Given the description of an element on the screen output the (x, y) to click on. 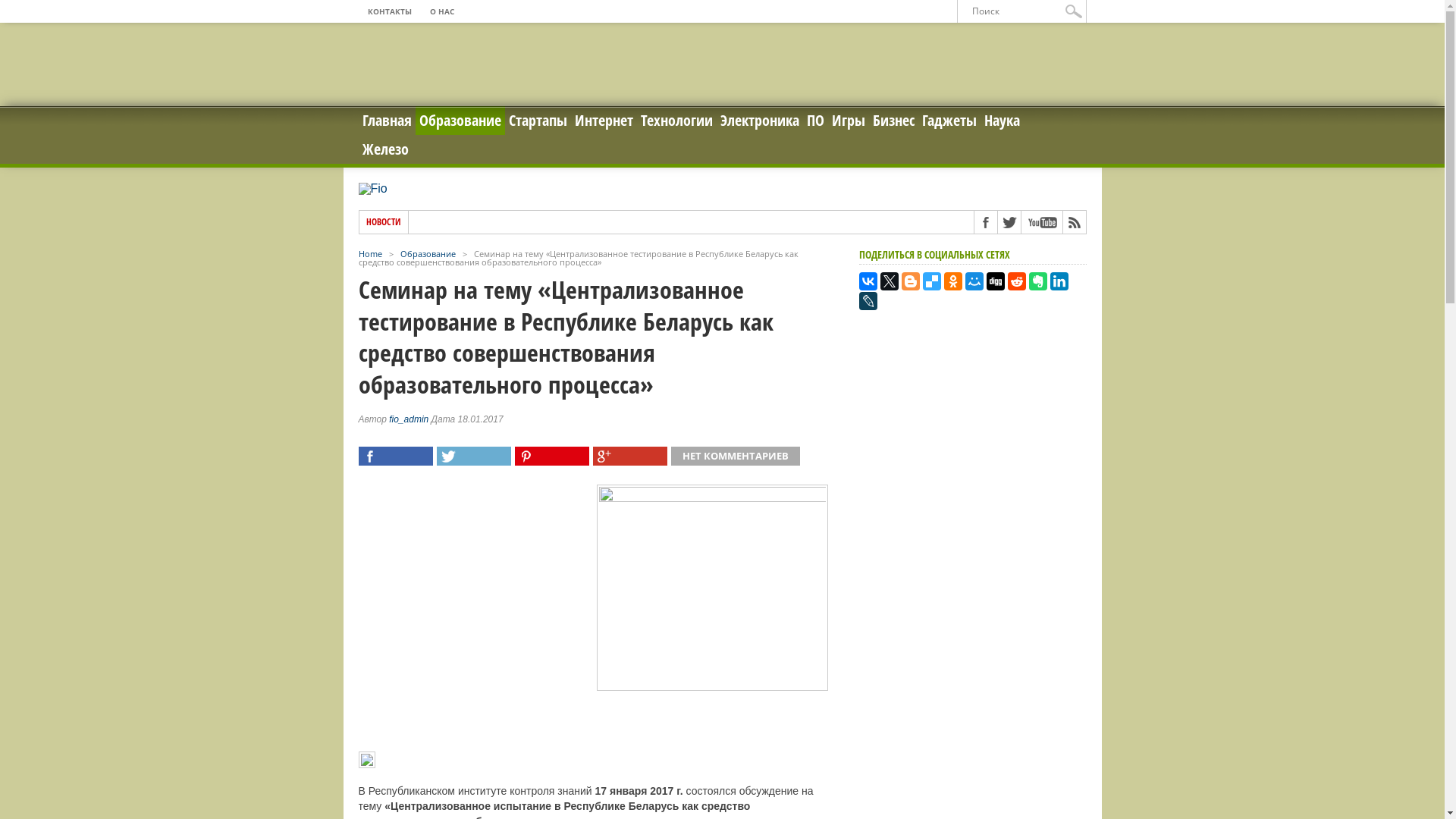
Blogger Element type: hover (909, 281)
Evernote Element type: hover (1037, 281)
LiveJournal Element type: hover (867, 300)
Advertisement Element type: hover (971, 427)
fio_admin Element type: text (408, 419)
Home Element type: text (369, 253)
reddit Element type: hover (1016, 281)
LinkedIn Element type: hover (1058, 281)
Advertisement Element type: hover (722, 64)
Twitter Element type: hover (888, 281)
Digg Element type: hover (994, 281)
Delicious Element type: hover (931, 281)
